Given the description of an element on the screen output the (x, y) to click on. 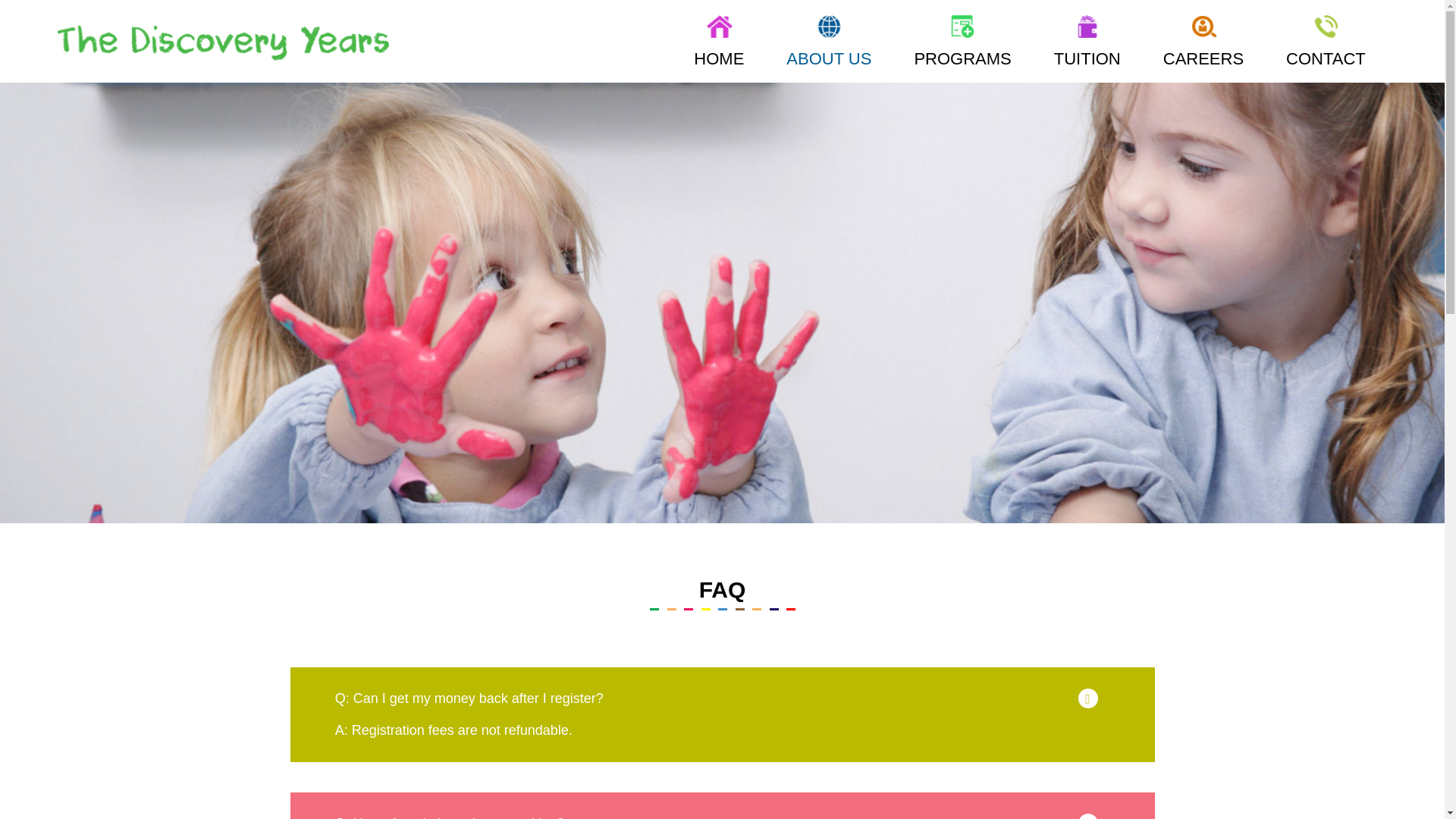
HOME (718, 43)
PROGRAMS (962, 43)
CONTACT (1326, 43)
CAREERS (1203, 43)
TUITION (1086, 43)
ABOUT US (828, 43)
